Given the description of an element on the screen output the (x, y) to click on. 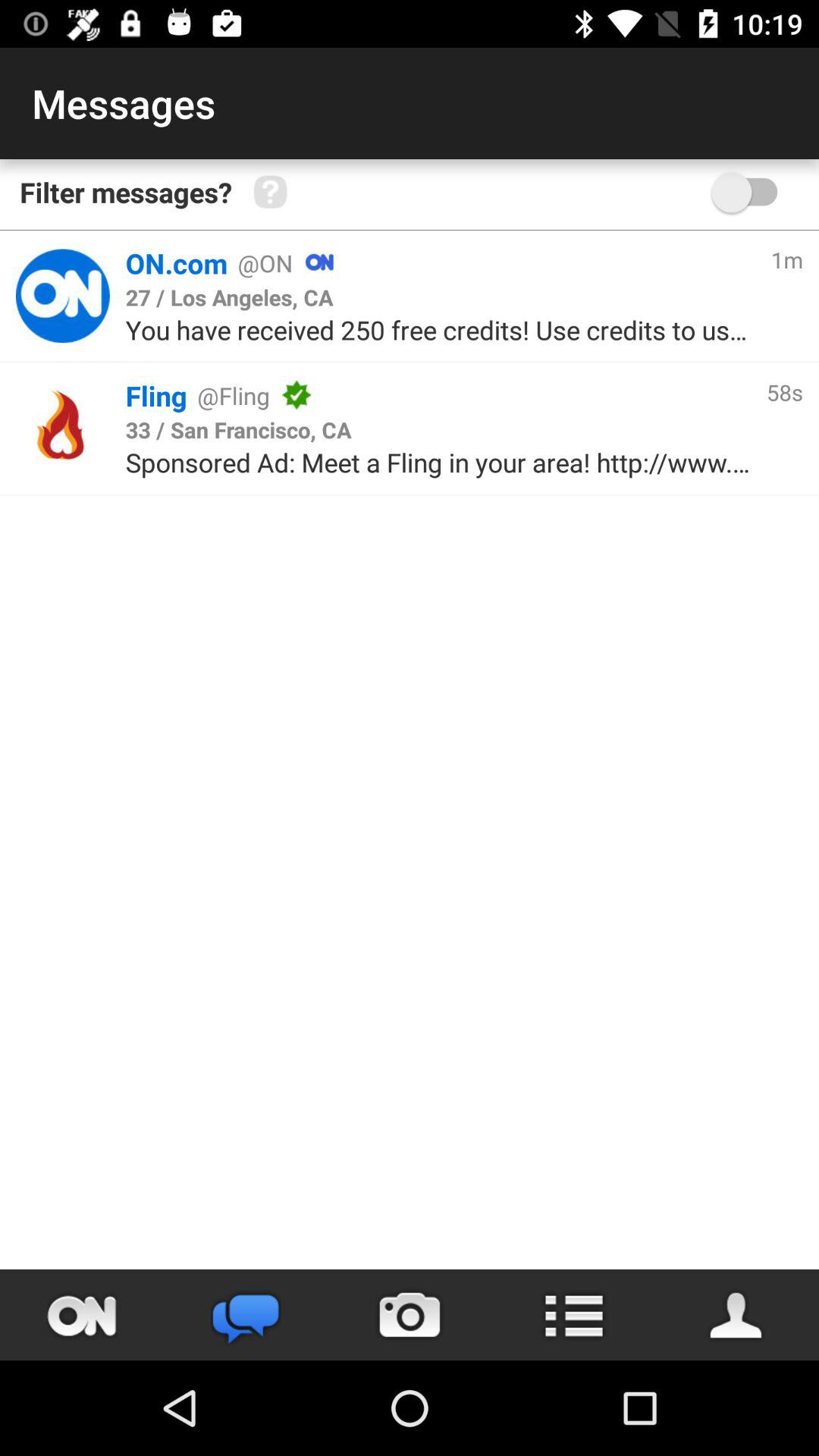
tap the 27 los angeles (229, 297)
